Given the description of an element on the screen output the (x, y) to click on. 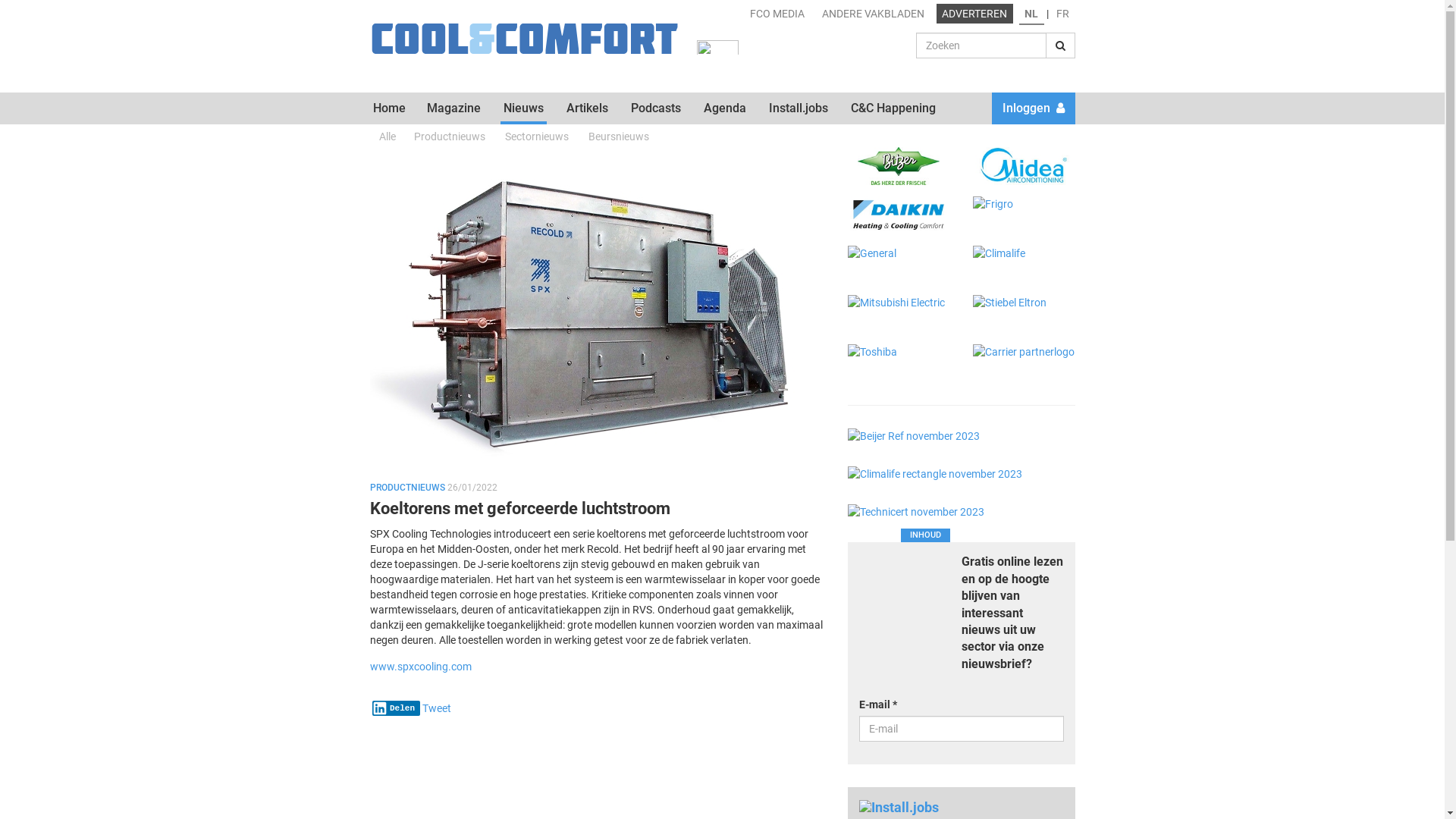
Magazine Element type: text (453, 108)
Podcasts Element type: text (655, 108)
Sectornieuws Element type: text (536, 134)
Alle Element type: text (387, 134)
www.spxcooling.com Element type: text (420, 666)
Tweet Element type: text (436, 708)
Install.jobs Element type: text (798, 108)
ADVERTEREN Element type: text (973, 12)
Agenda Element type: text (724, 108)
NL Element type: text (1031, 13)
Delen Element type: text (395, 707)
FR Element type: text (1063, 12)
Productnieuws Element type: text (449, 134)
FCO MEDIA Element type: text (777, 12)
C&C Happening Element type: text (892, 108)
Home Element type: text (389, 108)
Nieuws Element type: text (523, 108)
ANDERE VAKBLADEN Element type: text (872, 12)
Inloggen   Element type: text (1033, 108)
Artikels Element type: text (586, 108)
Beursnieuws Element type: text (618, 134)
